Given the description of an element on the screen output the (x, y) to click on. 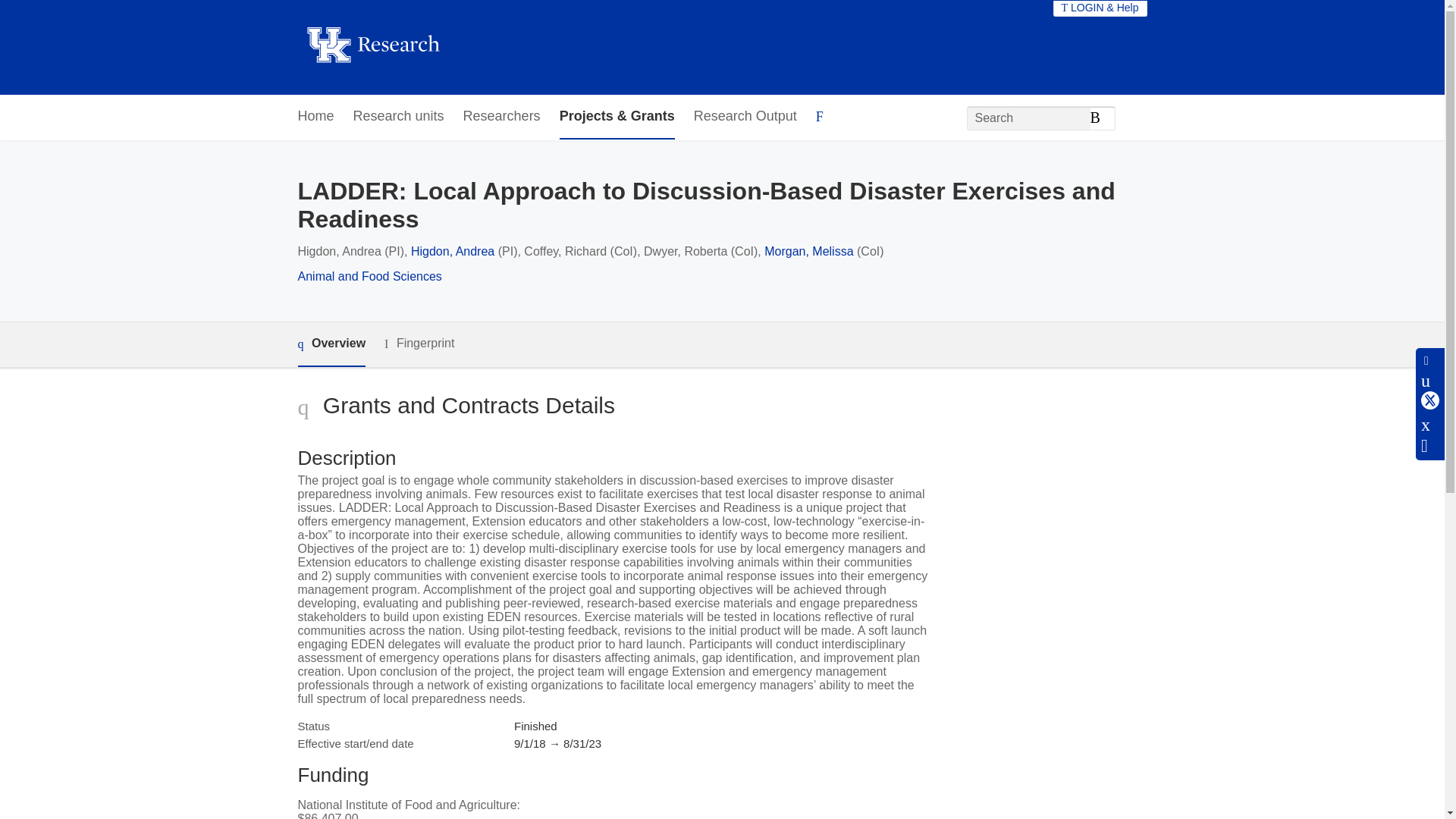
Research units (398, 117)
University of Kentucky Home (372, 47)
Research Output (745, 117)
Fingerprint (419, 343)
Researchers (501, 117)
Home (315, 117)
Higdon, Andrea (452, 250)
Animal and Food Sciences (369, 276)
Overview (331, 344)
Morgan, Melissa (808, 250)
